Given the description of an element on the screen output the (x, y) to click on. 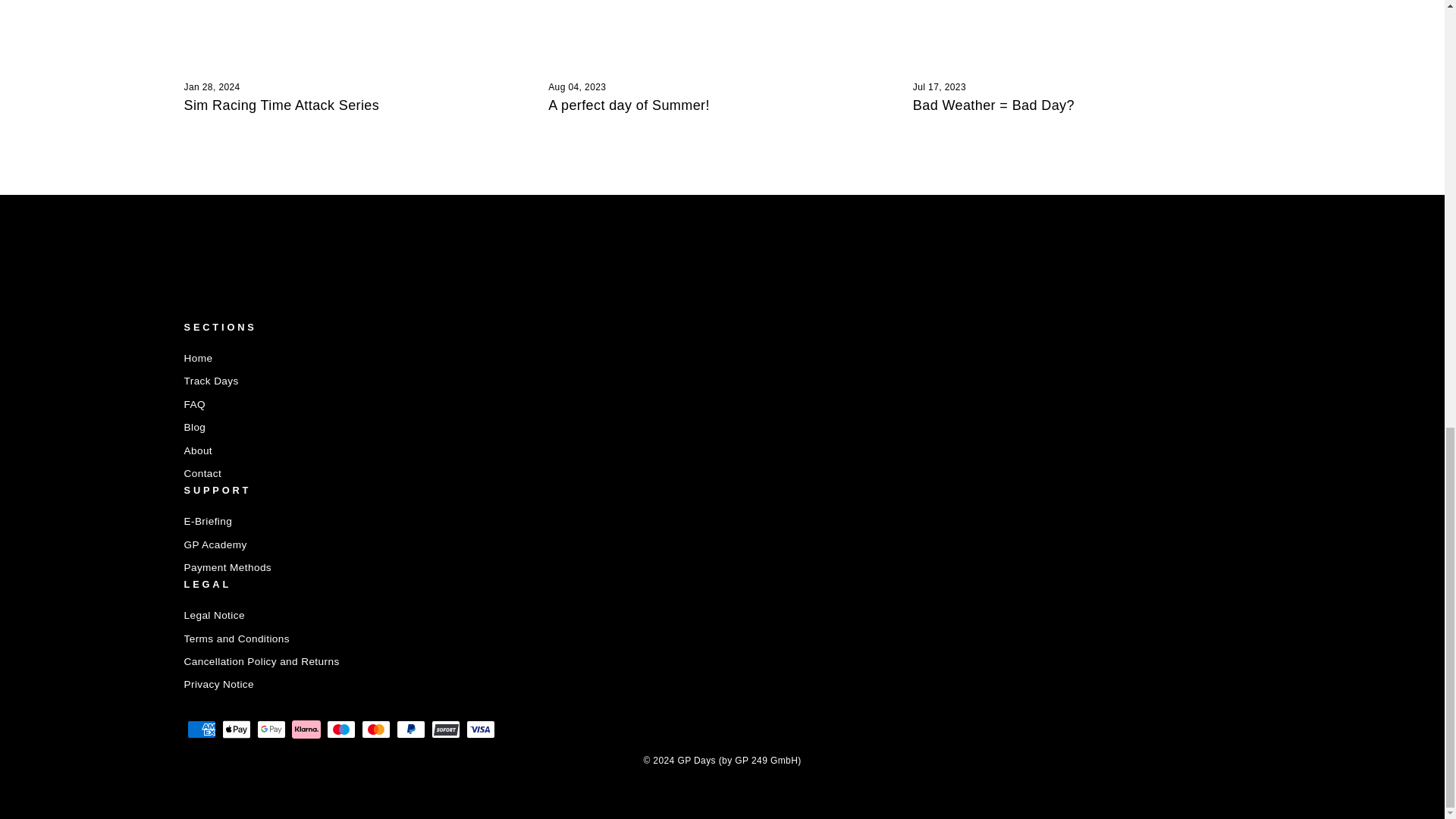
Maestro (340, 729)
American Express (200, 729)
Google Pay (270, 729)
SOFORT (445, 729)
Visa (480, 729)
Apple Pay (235, 729)
Mastercard (375, 729)
PayPal (410, 729)
Klarna (305, 729)
